Given the description of an element on the screen output the (x, y) to click on. 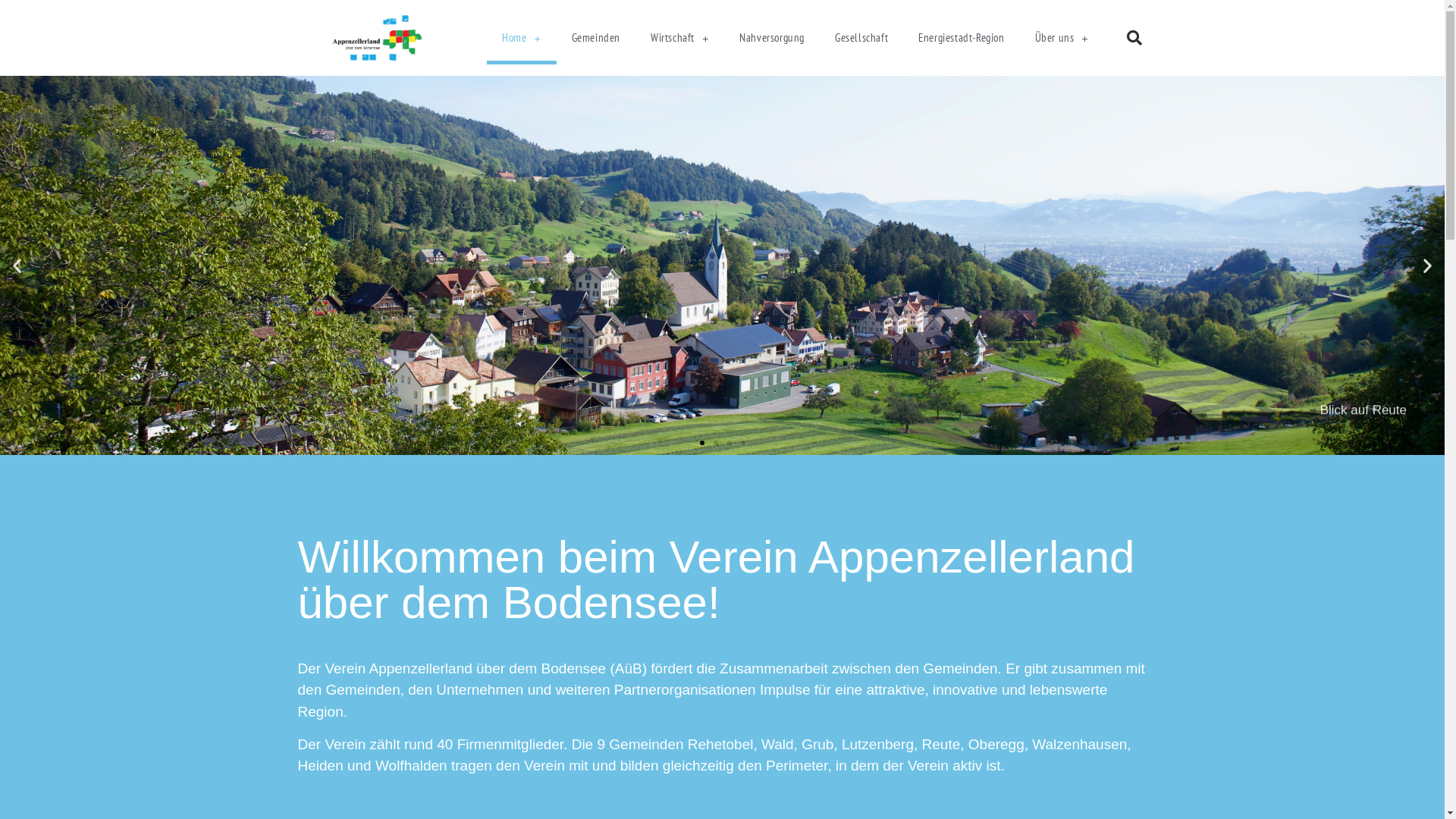
Gemeinden Element type: text (595, 37)
Gesellschaft Element type: text (861, 37)
Wirtschaft Element type: text (679, 37)
Energiestadt-Region Element type: text (961, 37)
Home Element type: text (521, 37)
Nahversorgung Element type: text (771, 37)
